Given the description of an element on the screen output the (x, y) to click on. 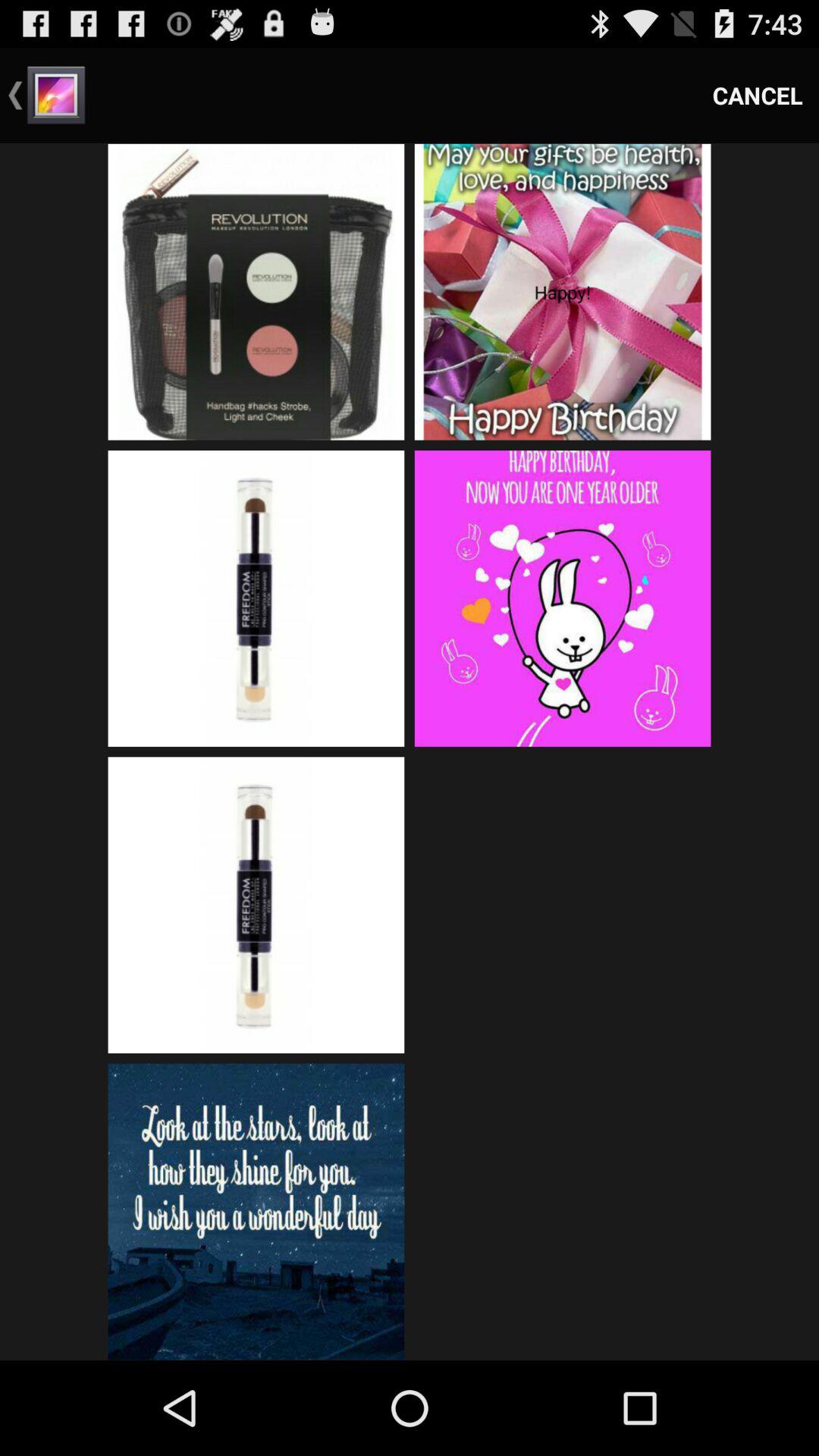
select the cancel item (757, 95)
